Given the description of an element on the screen output the (x, y) to click on. 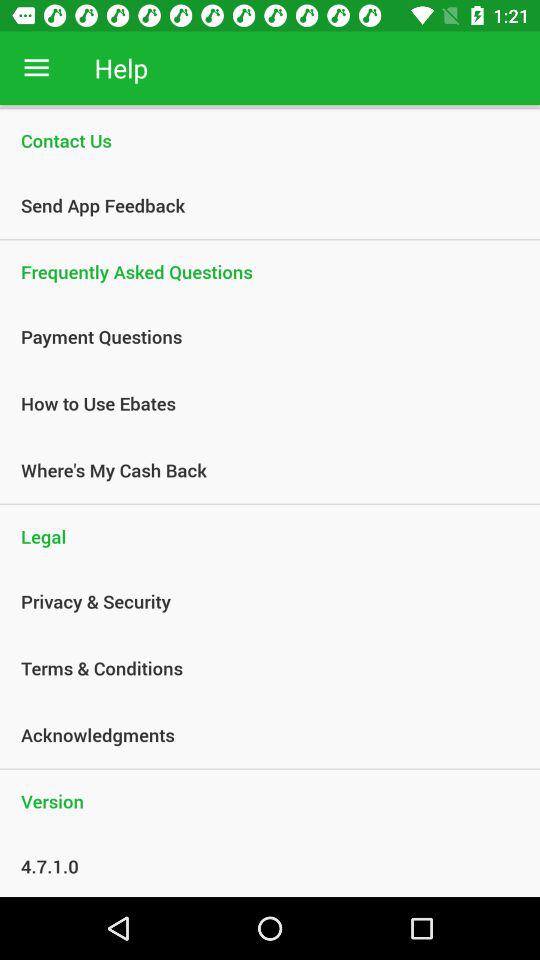
launch the item below contact us icon (259, 205)
